Given the description of an element on the screen output the (x, y) to click on. 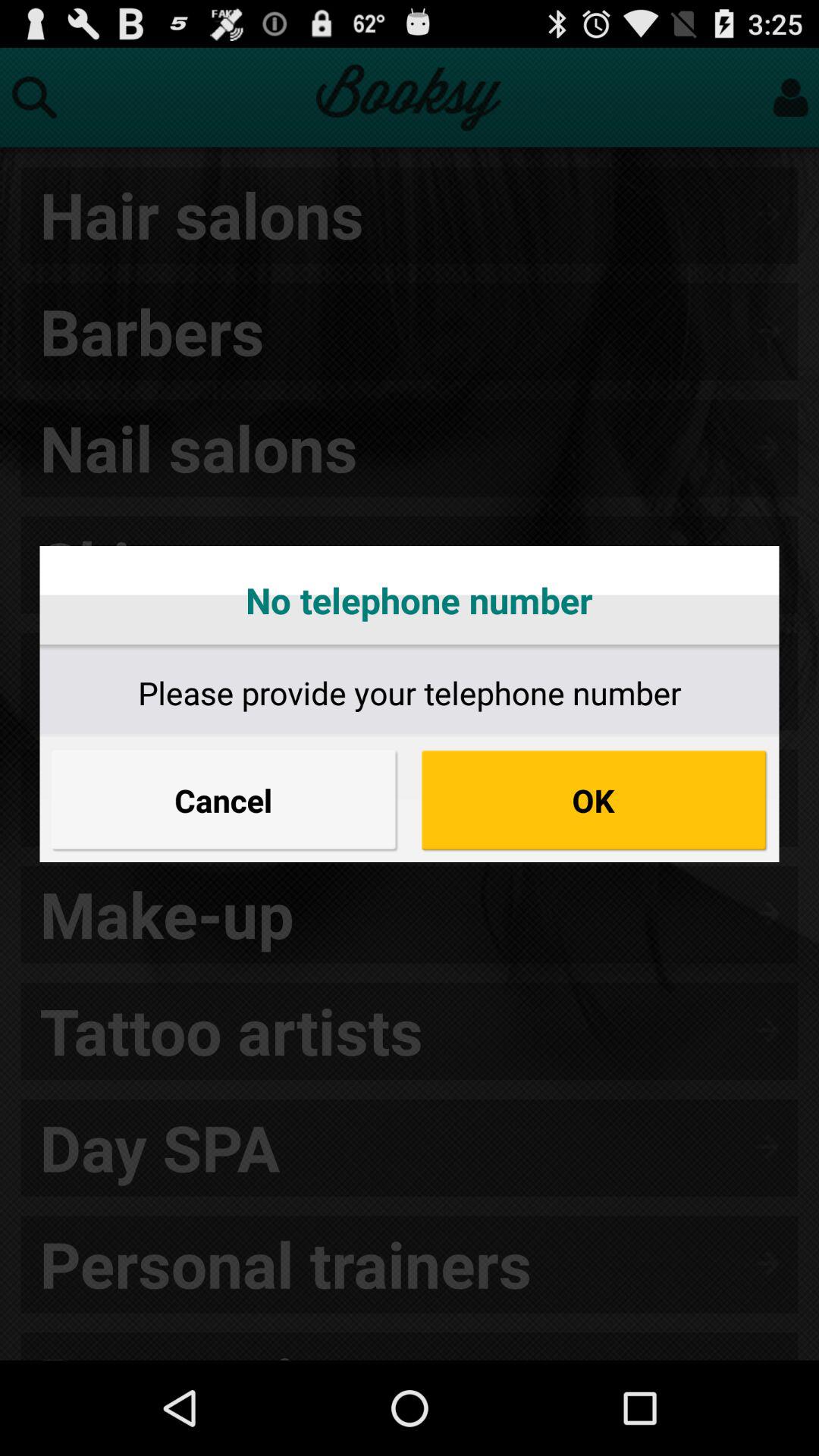
click button on the right (593, 799)
